Given the description of an element on the screen output the (x, y) to click on. 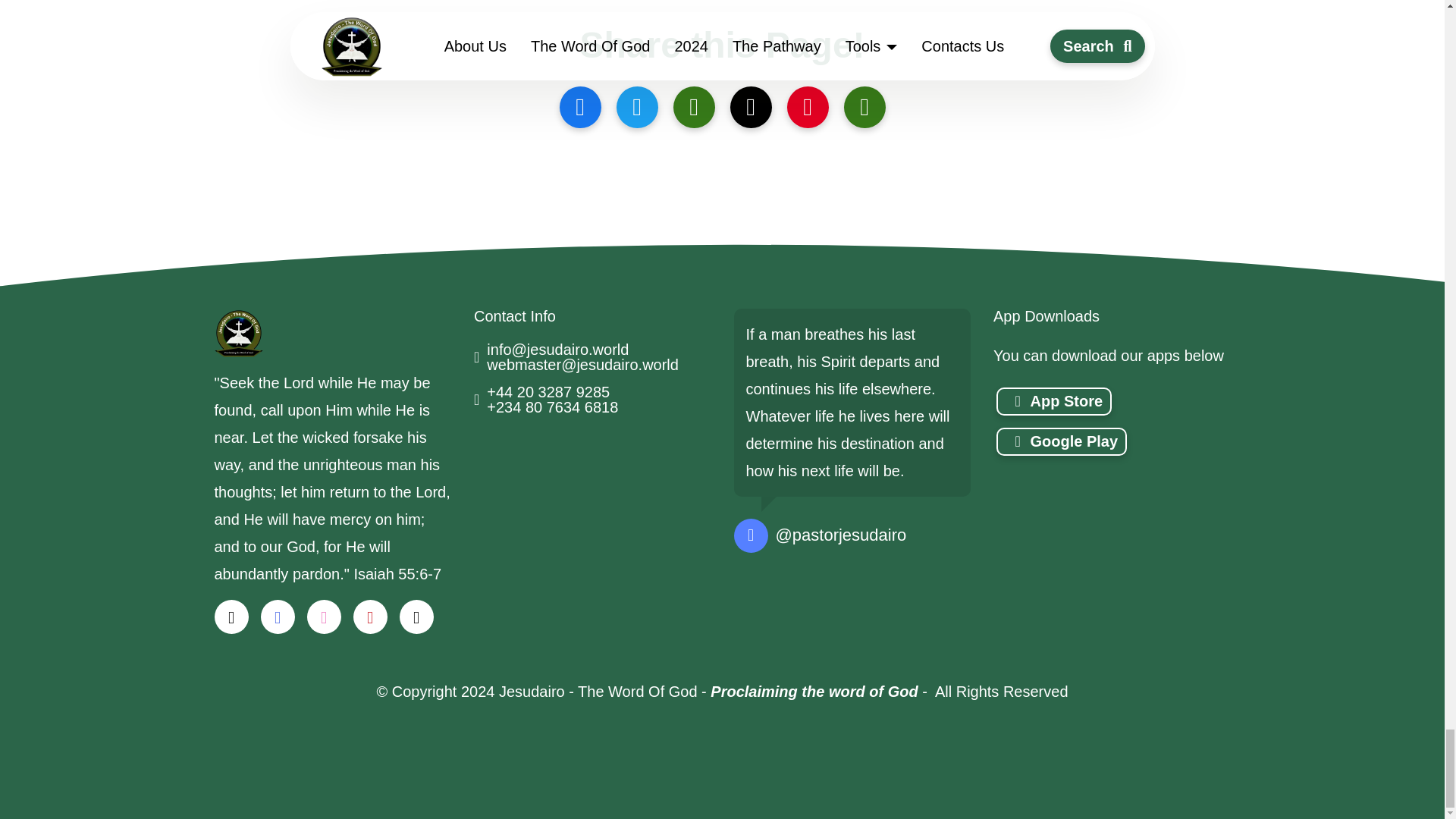
Google Play (1060, 441)
App Store (1053, 401)
